Given the description of an element on the screen output the (x, y) to click on. 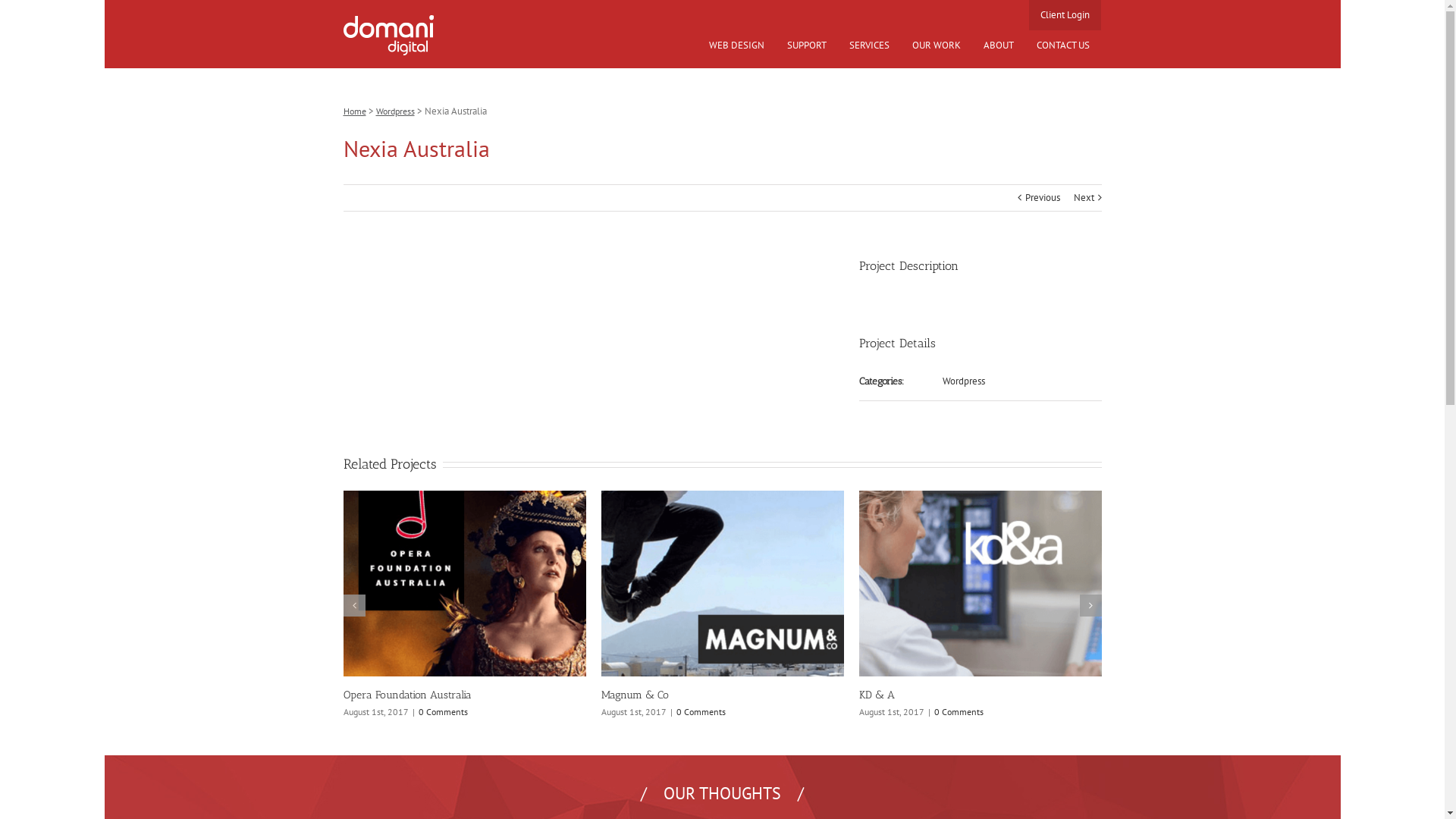
WEB DESIGN Element type: text (736, 45)
Client Login Element type: text (1064, 14)
Magnum & Co Element type: text (635, 694)
SERVICES Element type: text (868, 45)
0 Comments Element type: text (700, 711)
ABOUT Element type: text (998, 45)
Opera Foundation Australia Element type: text (430, 694)
Next Element type: text (1083, 197)
Previous Element type: text (1042, 197)
Home Element type: text (353, 110)
CONTACT US Element type: text (1063, 45)
SUPPORT Element type: text (806, 45)
OUR WORK Element type: text (936, 45)
0 Comments Element type: text (457, 711)
Wordpress Element type: text (963, 380)
Wordpress Element type: text (395, 110)
